Given the description of an element on the screen output the (x, y) to click on. 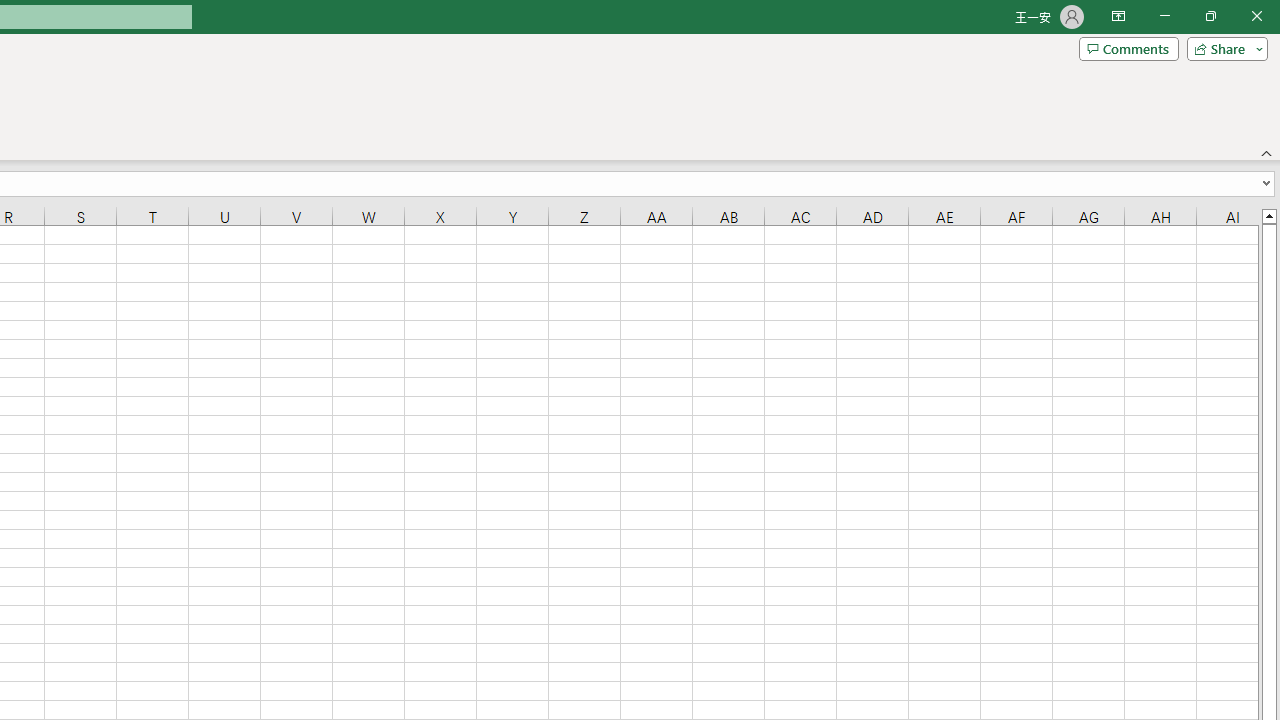
Collapse the Ribbon (1267, 152)
Close (1256, 16)
Share (1223, 48)
Restore Down (1210, 16)
Minimize (1164, 16)
Line up (1268, 215)
Ribbon Display Options (1118, 16)
Comments (1128, 48)
